Given the description of an element on the screen output the (x, y) to click on. 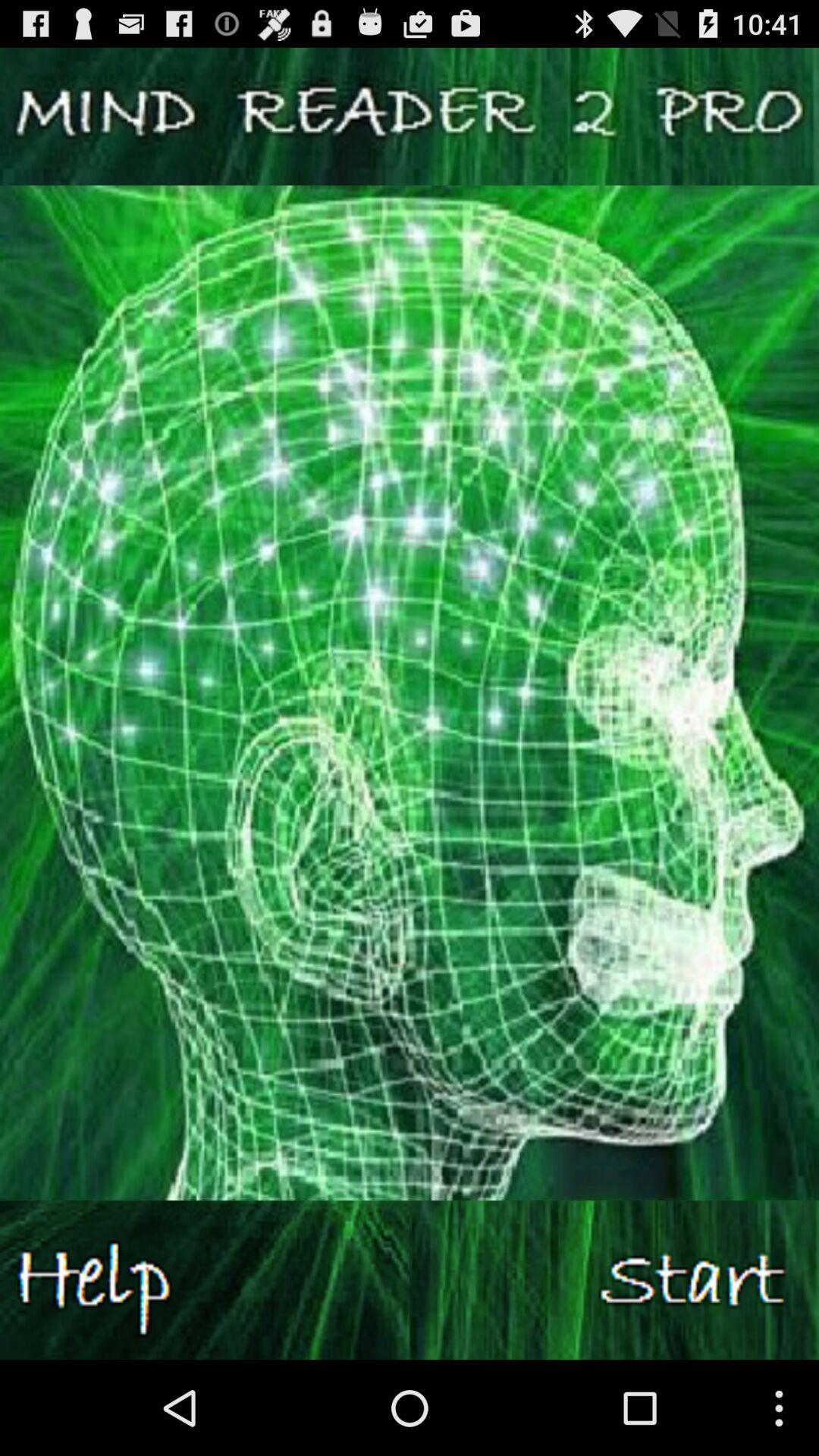
help button (204, 1279)
